Given the description of an element on the screen output the (x, y) to click on. 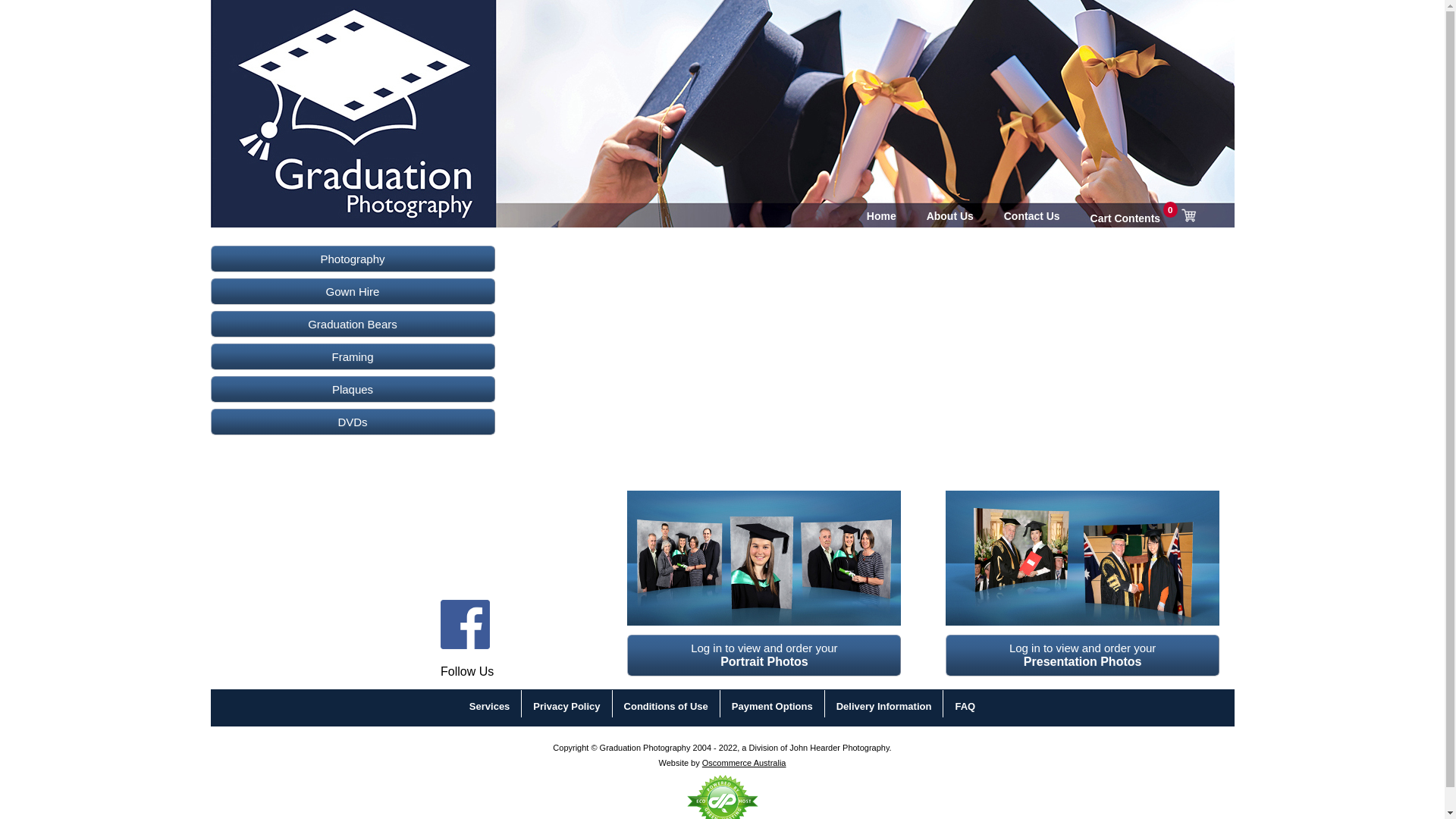
Graduation Bears Element type: text (352, 323)
Conditions of Use Element type: text (666, 706)
Plaques Element type: text (352, 389)
Graduation Photography Element type: text (306, 86)
Privacy Policy Element type: text (566, 706)
DVDs Element type: text (352, 421)
Framing Element type: text (352, 356)
Payment Options Element type: text (771, 706)
Log in to view and order your
Presentation Photos Element type: text (1082, 655)
Oscommerce Australia Element type: text (744, 762)
Services Element type: text (489, 706)
Gown Hire Element type: text (352, 291)
Home Element type: text (881, 216)
Log in to view and order your
Portrait Photos Element type: text (763, 655)
FAQ Element type: text (964, 706)
Contact Us Element type: text (1032, 216)
Photography Element type: text (352, 258)
About Us Element type: text (949, 216)
Cart Contents 0 Element type: text (1143, 214)
Delivery Information Element type: text (883, 706)
